Given the description of an element on the screen output the (x, y) to click on. 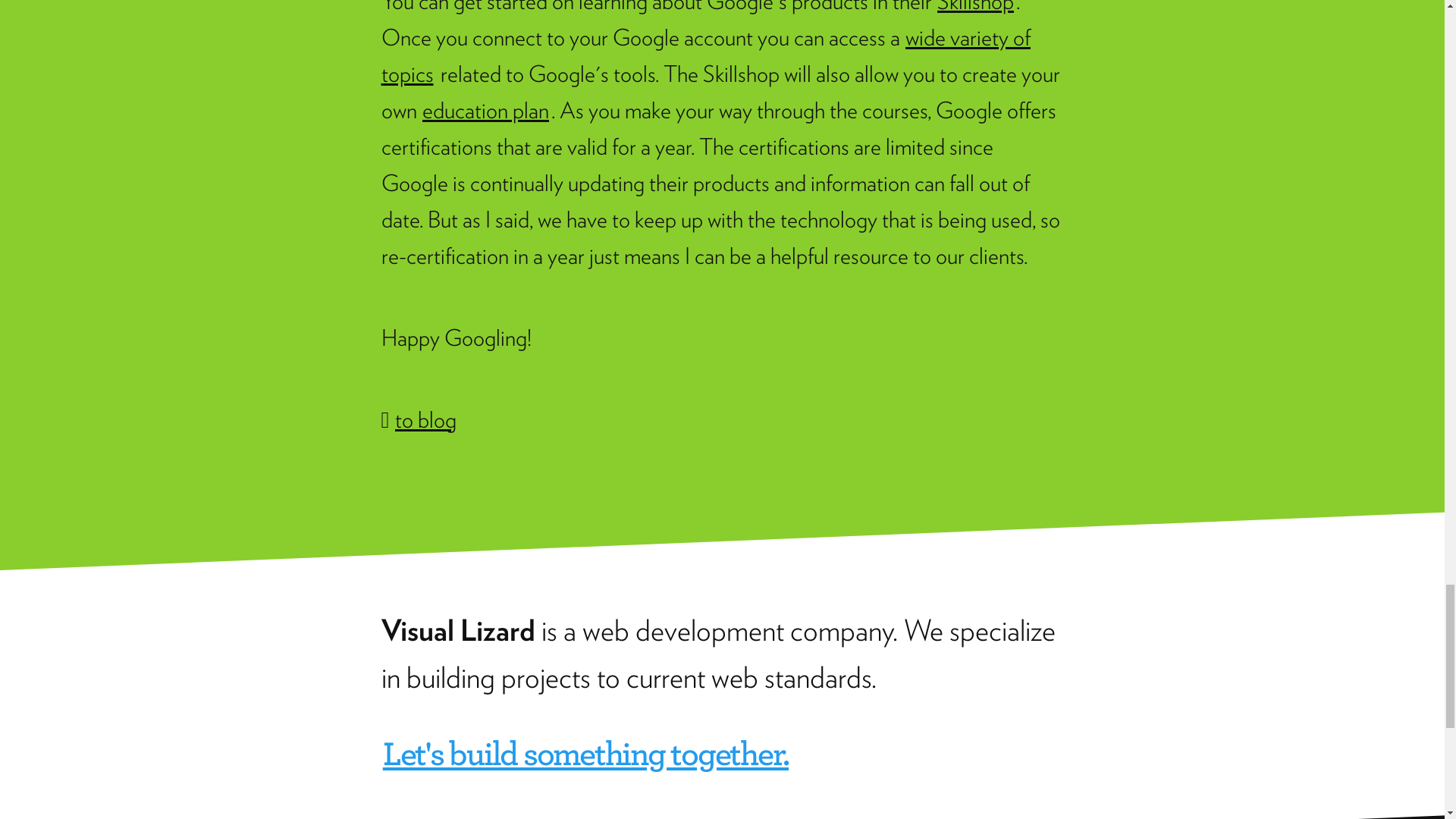
wide variety of topics (705, 54)
Let's build something together. (585, 752)
to blog (425, 419)
education plan (485, 109)
Skillshop (975, 7)
